Given the description of an element on the screen output the (x, y) to click on. 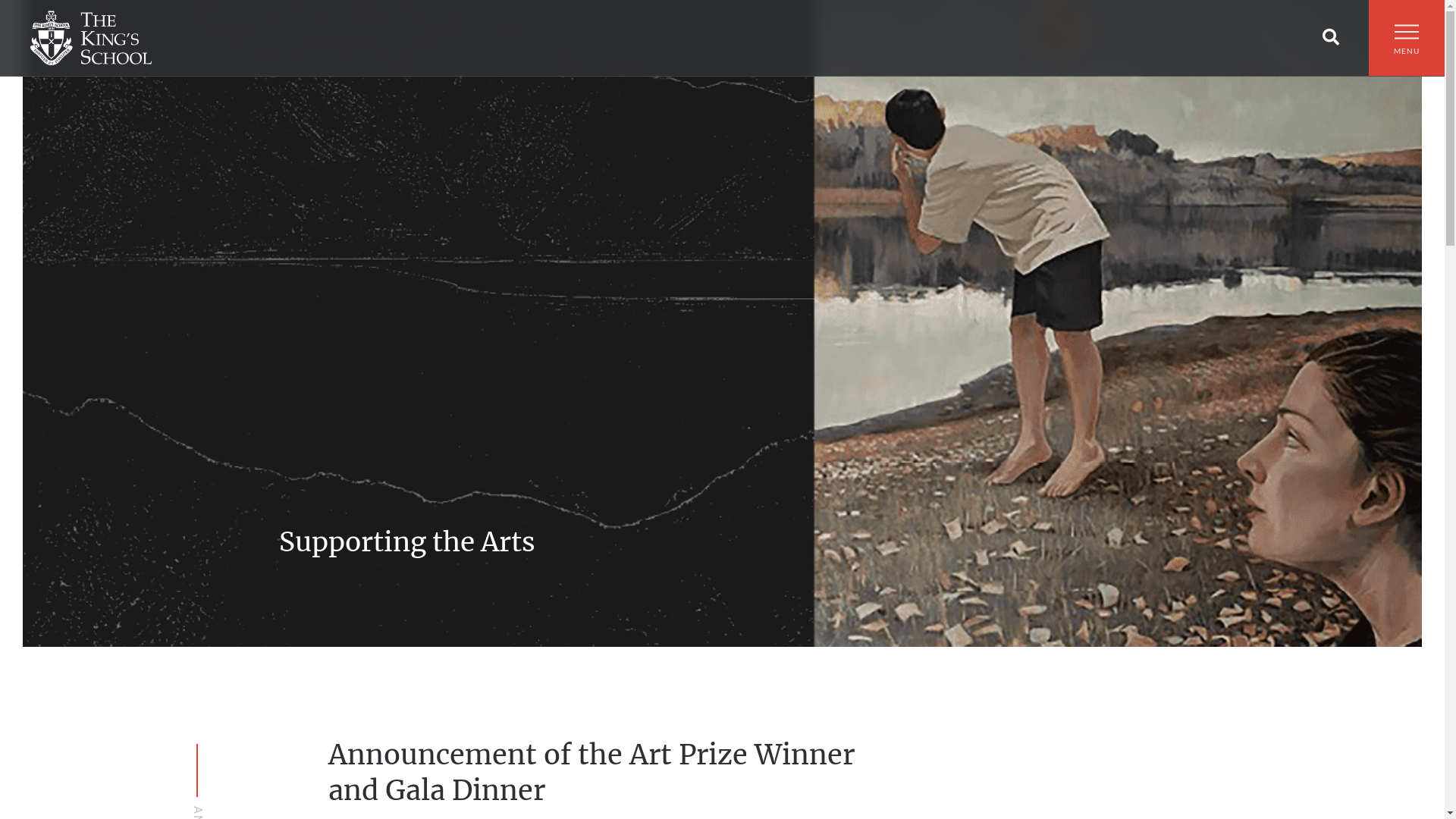
MENU Element type: text (1406, 46)
